Given the description of an element on the screen output the (x, y) to click on. 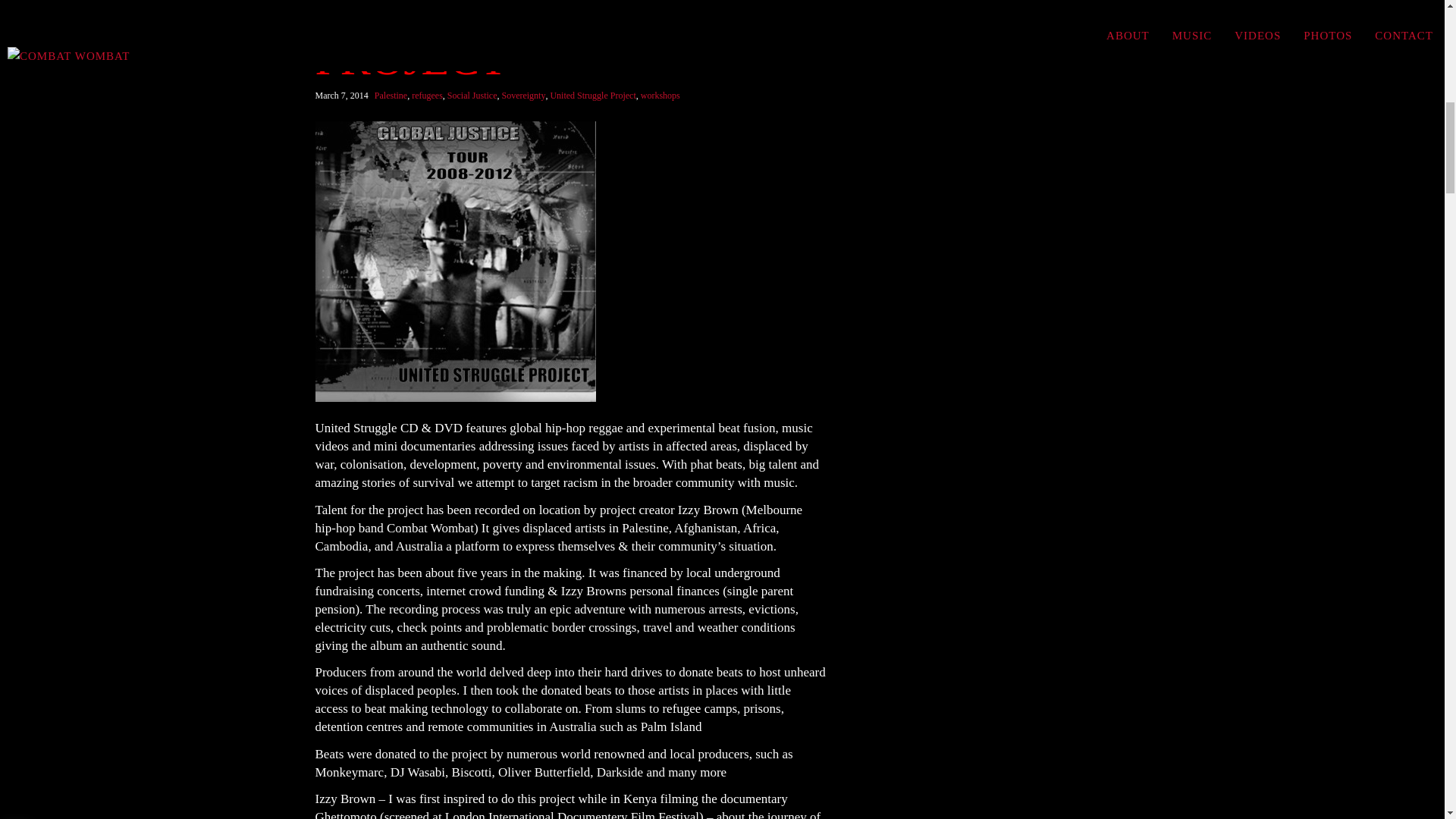
March 7, 2014 (343, 95)
United Struggle Project (592, 95)
Palestine (390, 95)
UNITED STRUGGLE PROJECT (571, 40)
workshops (659, 95)
Social Justice (471, 95)
refugees (427, 95)
Sovereignty (522, 95)
